Given the description of an element on the screen output the (x, y) to click on. 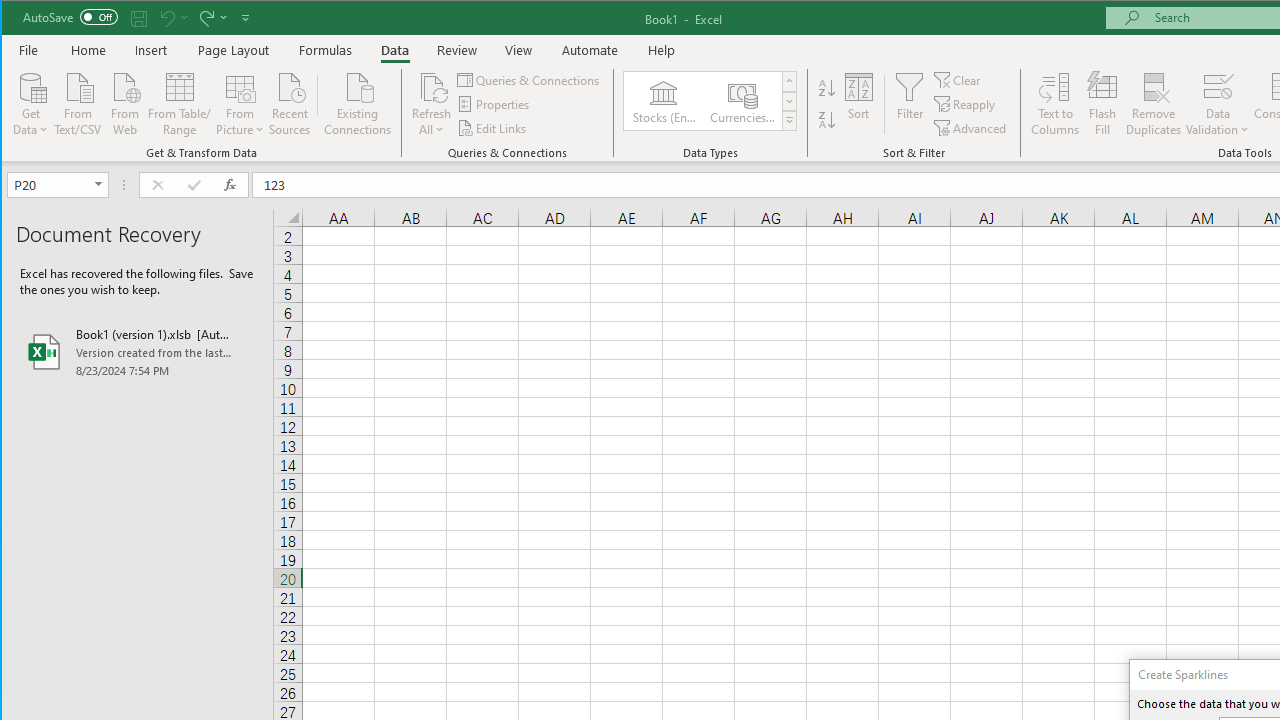
Sort Largest to Smallest (827, 119)
